Given the description of an element on the screen output the (x, y) to click on. 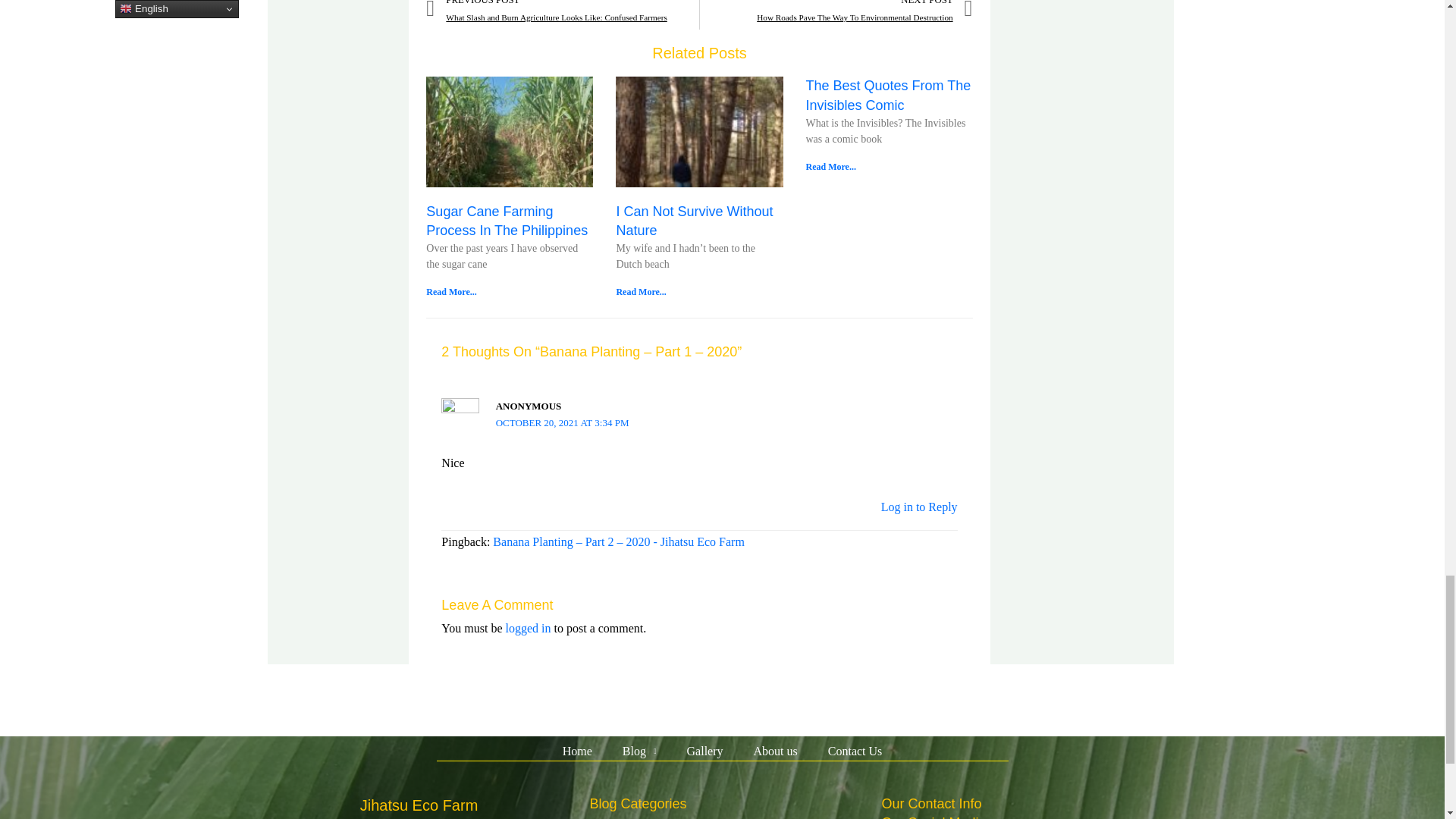
I Can Not Survive Without Nature (694, 220)
Read More... (830, 166)
Read More... (451, 291)
logged in (528, 627)
Sugar Cane Farming Process In The Philippines (507, 220)
The Best Quotes From The Invisibles Comic (888, 94)
Log in to Reply (919, 506)
Read More... (640, 291)
OCTOBER 20, 2021 AT 3:34 PM (562, 422)
